Given the description of an element on the screen output the (x, y) to click on. 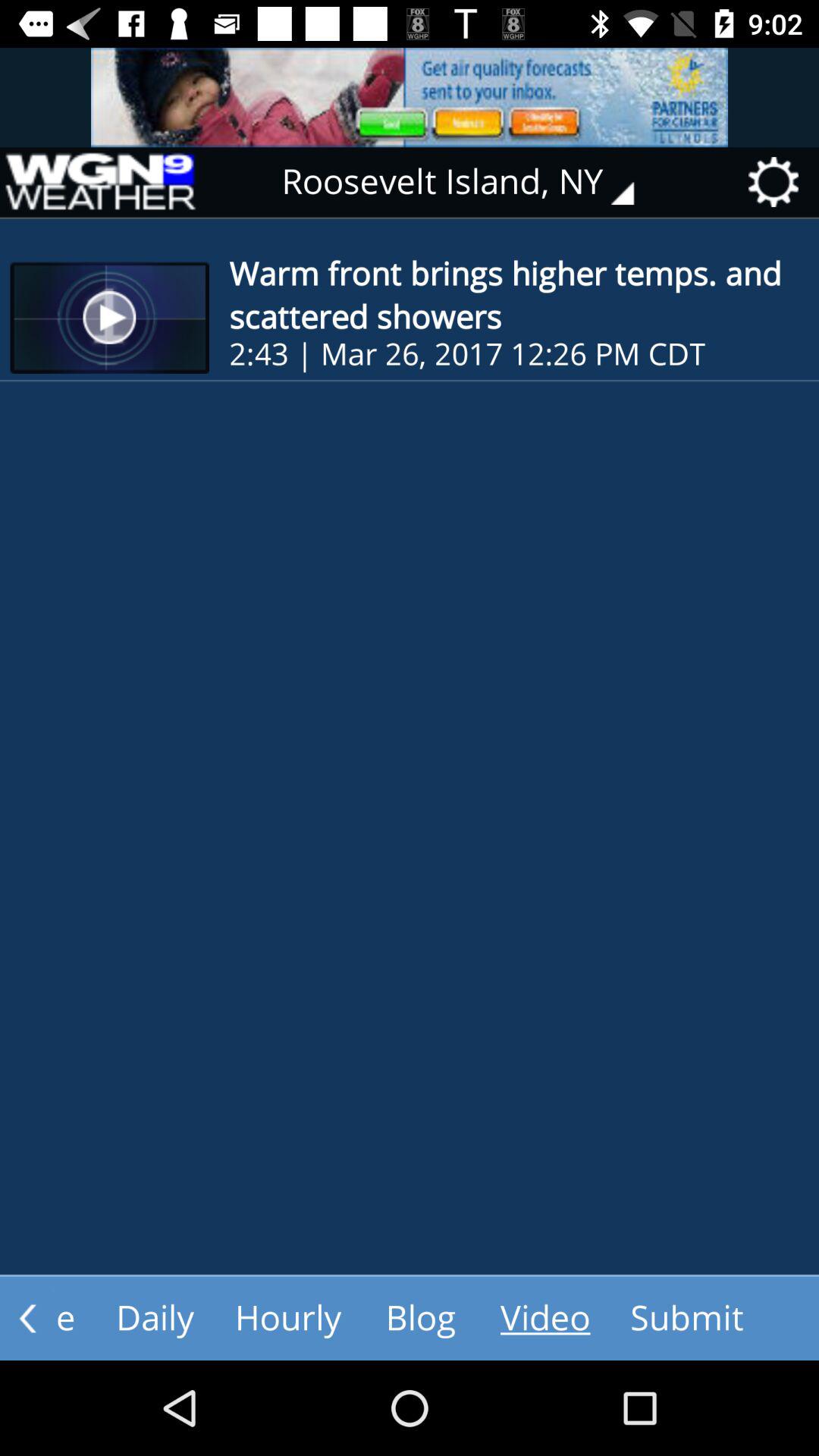
view advertising (409, 97)
